Given the description of an element on the screen output the (x, y) to click on. 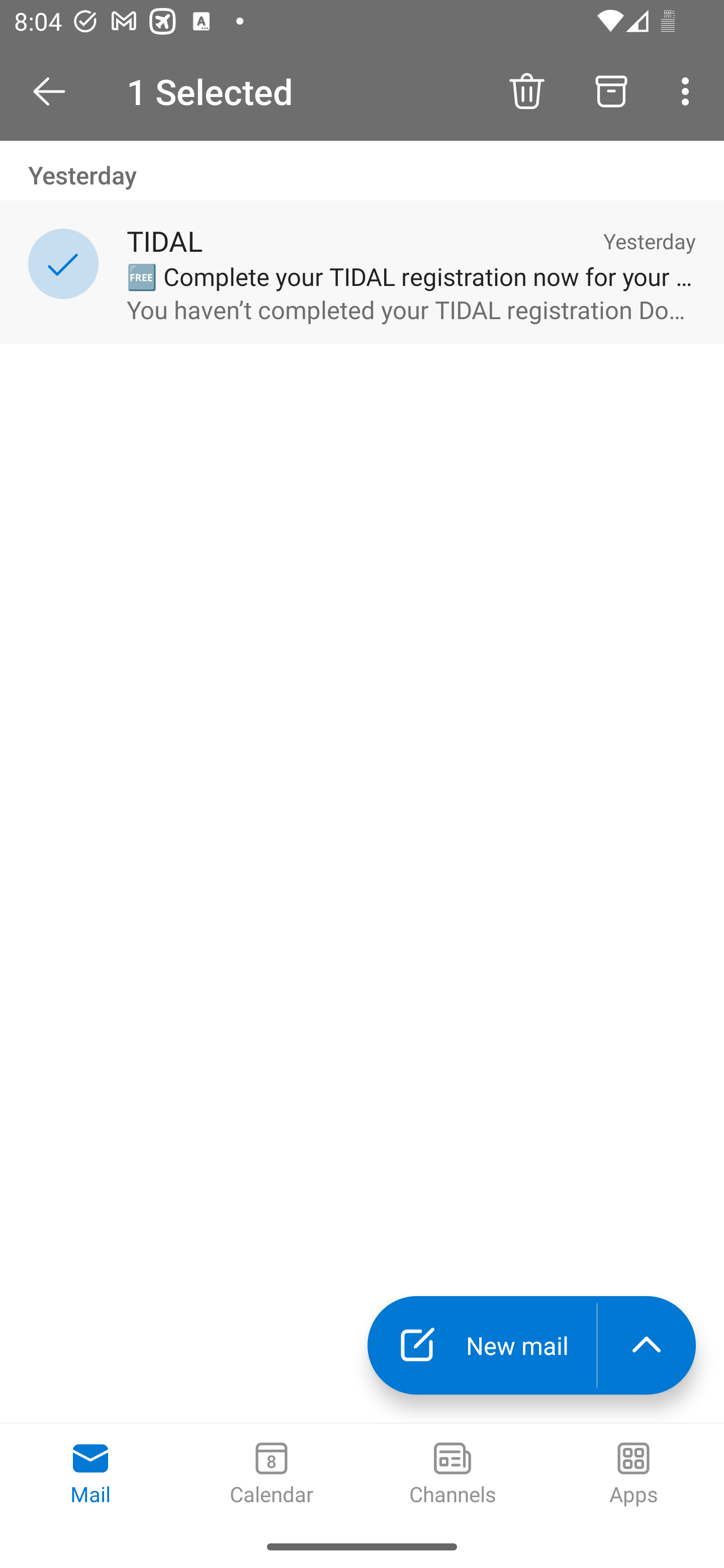
Done (49, 90)
Delete (526, 90)
Archive (611, 90)
More options (688, 90)
New mail (481, 1344)
launch the extended action menu (646, 1344)
Calendar (271, 1474)
Channels (452, 1474)
Apps (633, 1474)
